Given the description of an element on the screen output the (x, y) to click on. 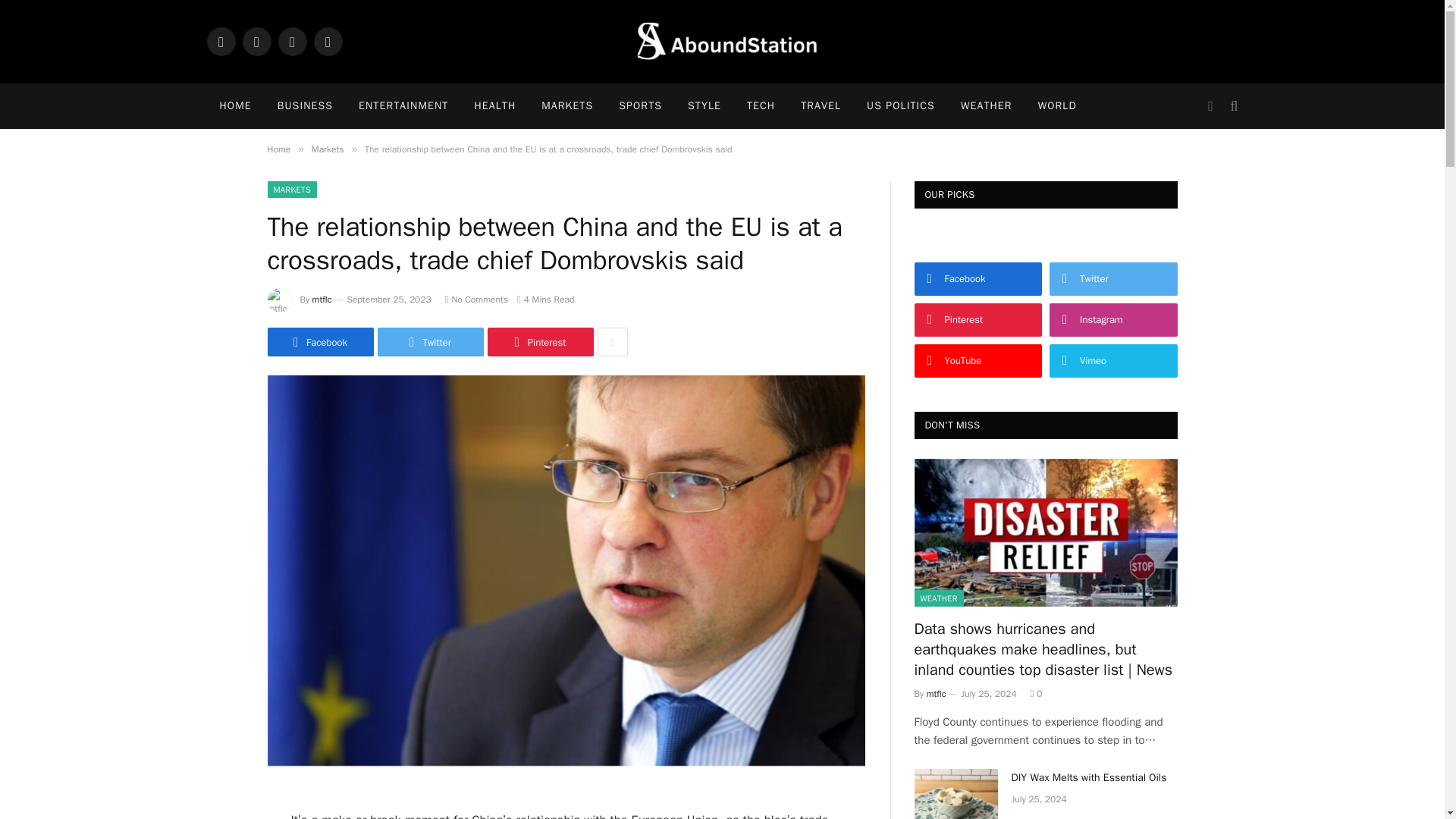
mtflc (322, 299)
TRAVEL (820, 105)
MARKETS (291, 189)
WORLD (1057, 105)
Share on Facebook (319, 341)
Share on Twitter (430, 341)
WEATHER (986, 105)
MARKETS (566, 105)
TECH (760, 105)
SPORTS (640, 105)
HOME (234, 105)
Markets (327, 149)
HEALTH (494, 105)
Facebook (220, 41)
US POLITICS (900, 105)
